Given the description of an element on the screen output the (x, y) to click on. 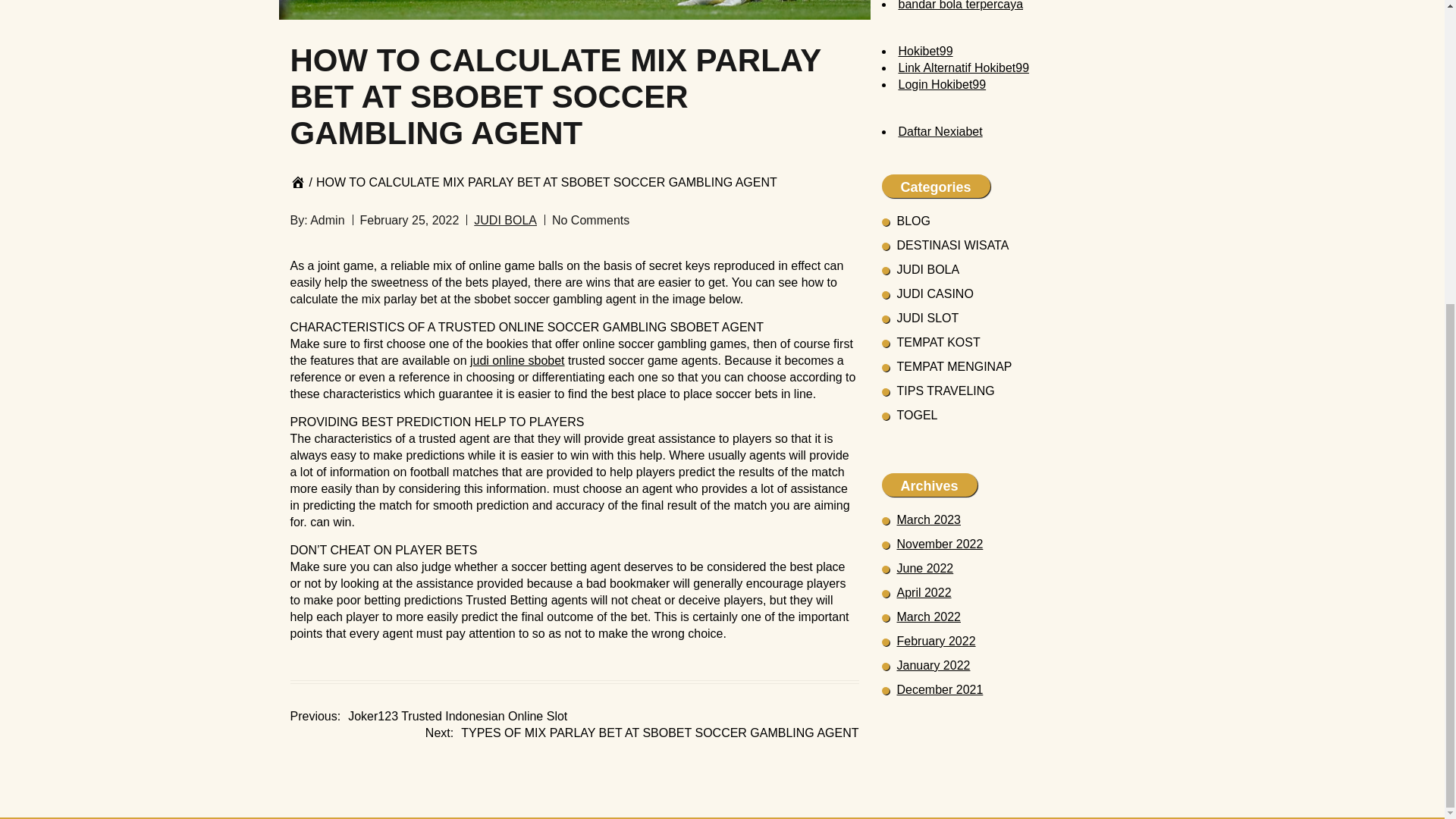
JUDI BOLA (927, 269)
Login Hokibet99 (941, 83)
TOGEL (916, 414)
judi online sbobet (517, 359)
January 2022 (932, 665)
June 2022 (924, 567)
BLOG (913, 220)
TIPS TRAVELING (945, 390)
November 2022 (939, 543)
Link Alternatif Hokibet99 (963, 67)
February 2022 (935, 640)
JUDI CASINO (934, 293)
Hokibet99 (925, 51)
